Given the description of an element on the screen output the (x, y) to click on. 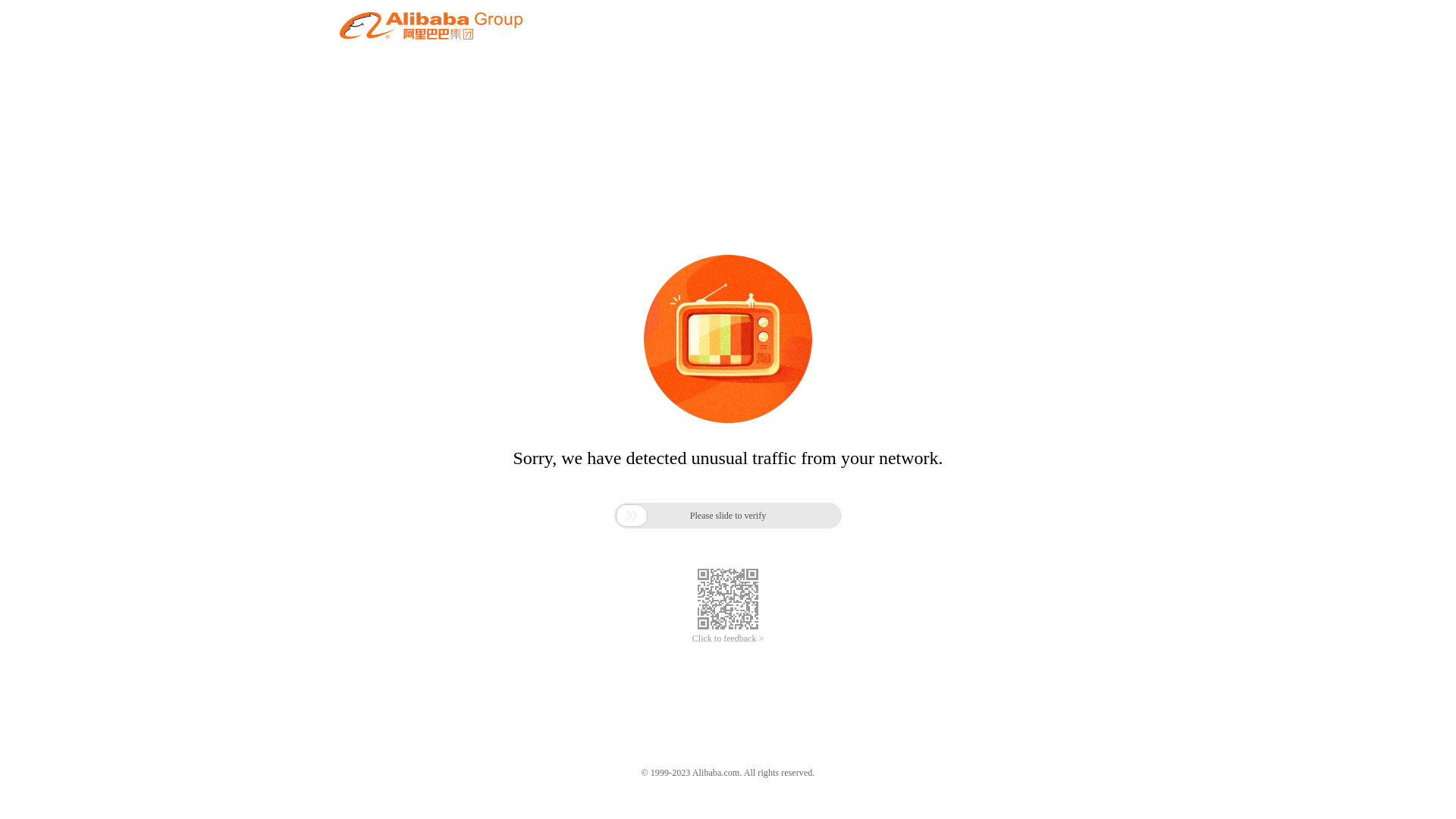
Click to feedback > Element type: text (727, 638)
